Given the description of an element on the screen output the (x, y) to click on. 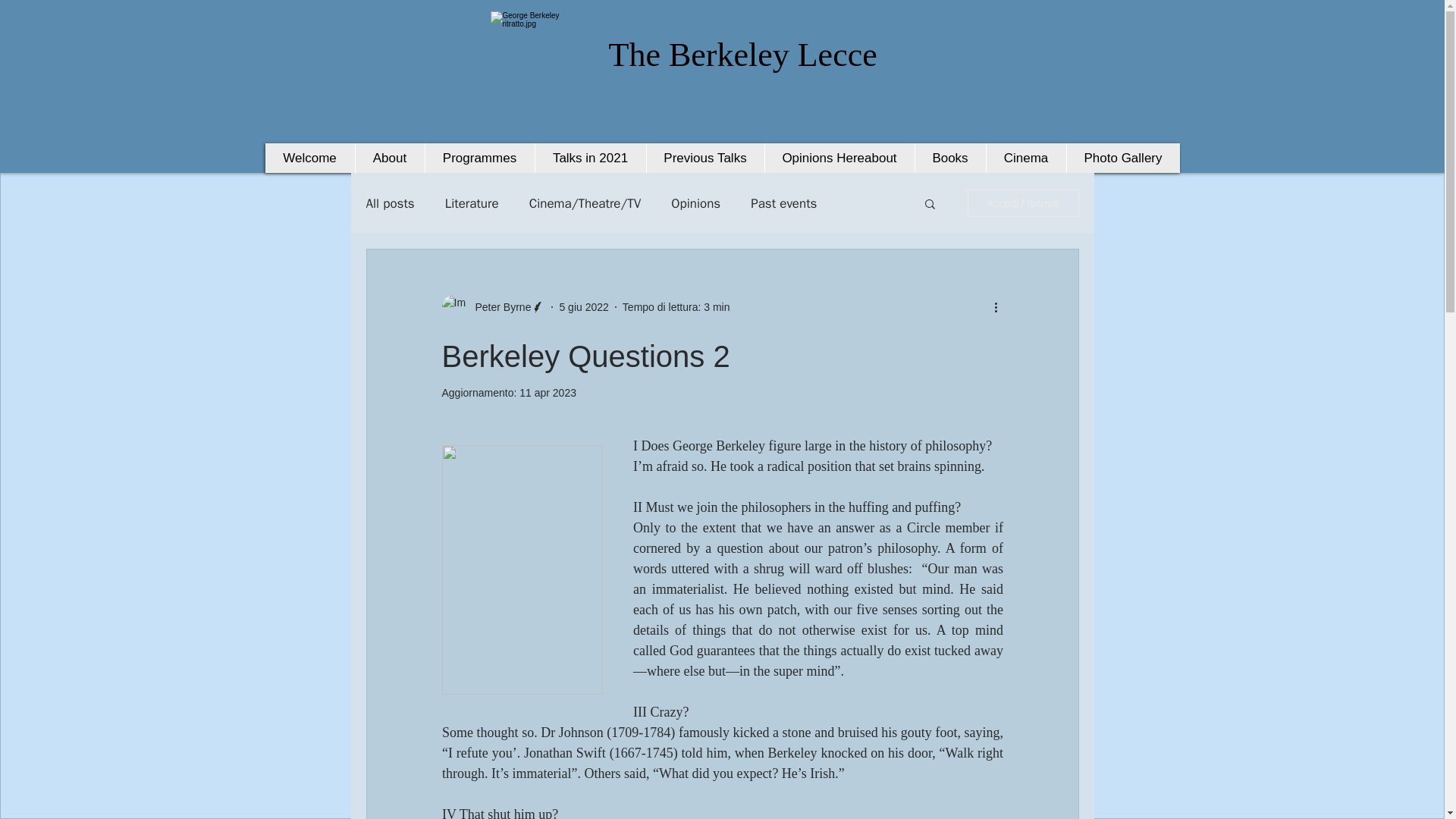
About (390, 157)
Peter Byrne (498, 306)
11 apr 2023 (547, 392)
5 giu 2022 (583, 306)
Welcome (309, 157)
Tempo di lettura: 3 min (676, 306)
